Given the description of an element on the screen output the (x, y) to click on. 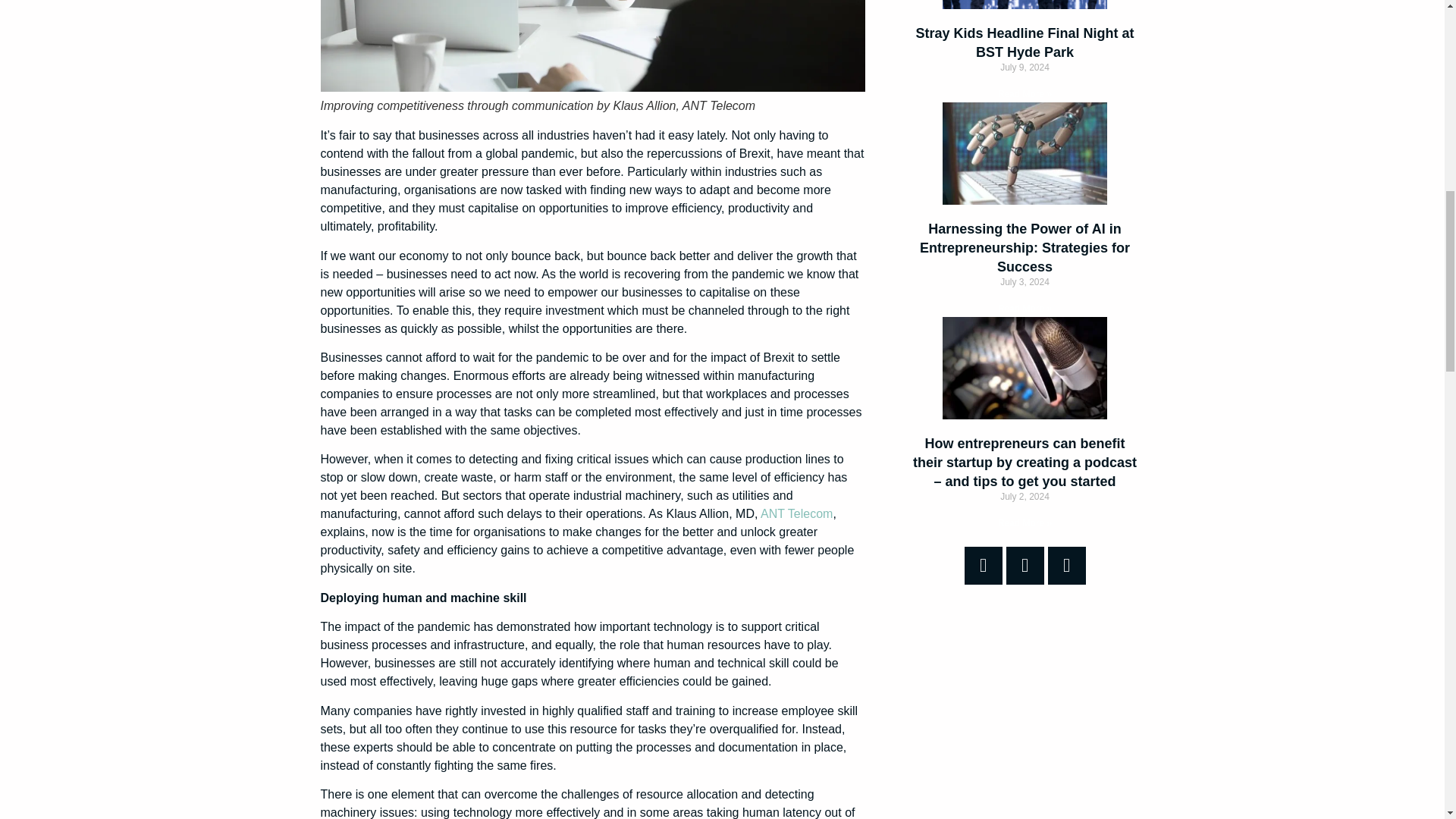
ANT Telecom (796, 513)
